Given the description of an element on the screen output the (x, y) to click on. 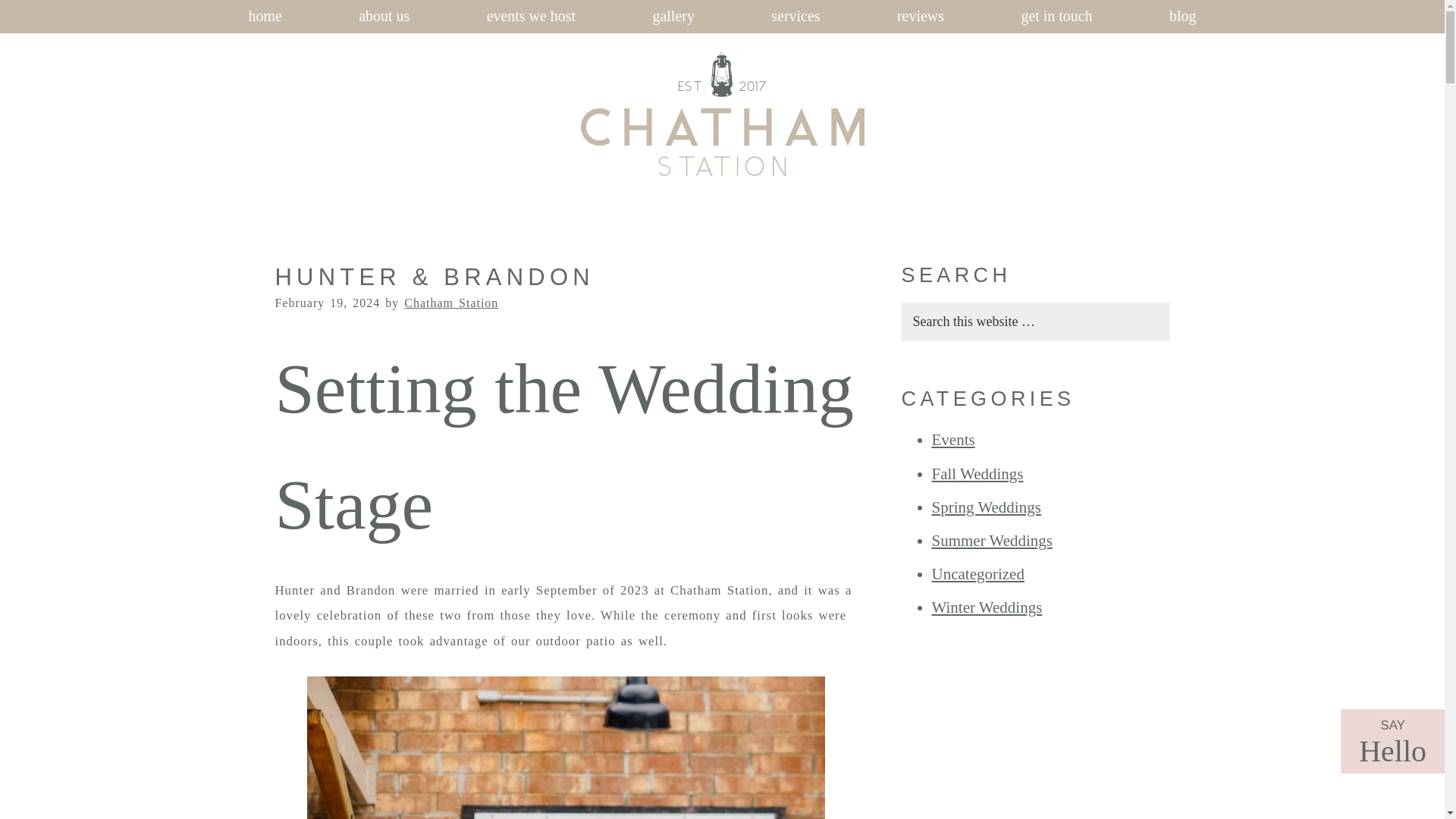
get in touch (1056, 16)
gallery (674, 16)
blog (1182, 16)
Chatham Station (605, 187)
services (795, 16)
Fall Weddings (977, 474)
events we host (531, 16)
reviews (920, 16)
about us (383, 16)
Events (952, 439)
home (263, 16)
Chatham Station (450, 302)
